Given the description of an element on the screen output the (x, y) to click on. 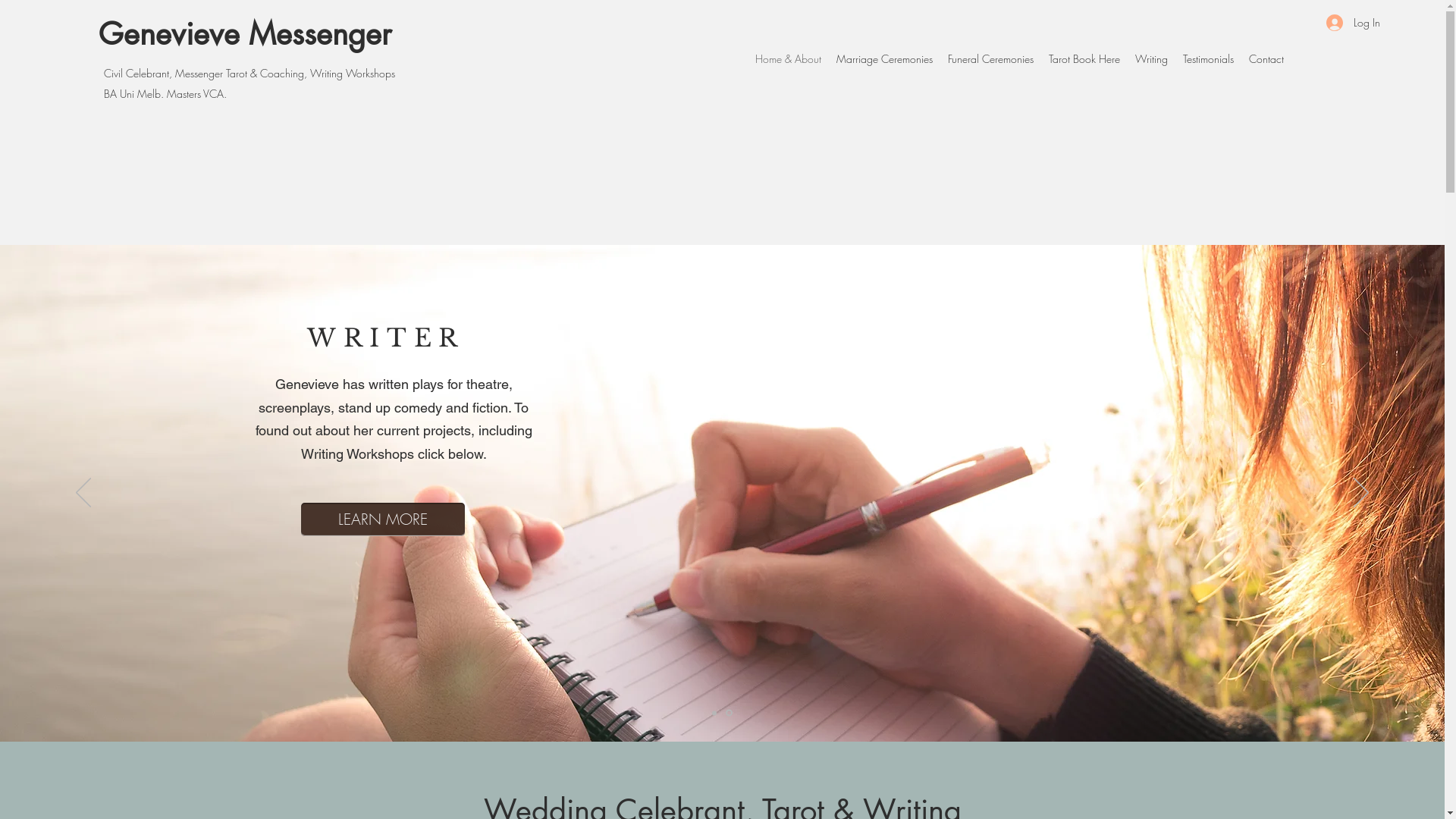
LEARN MORE Element type: text (382, 519)
Home & About Element type: text (787, 58)
Testimonials Element type: text (1208, 58)
Funeral Ceremonies Element type: text (990, 58)
Marriage Ceremonies Element type: text (884, 58)
Contact Element type: text (1266, 58)
Writing Element type: text (1151, 58)
Tarot Book Here Element type: text (1084, 58)
Genevieve Messenger Element type: text (244, 33)
Log In Element type: text (1349, 22)
